Given the description of an element on the screen output the (x, y) to click on. 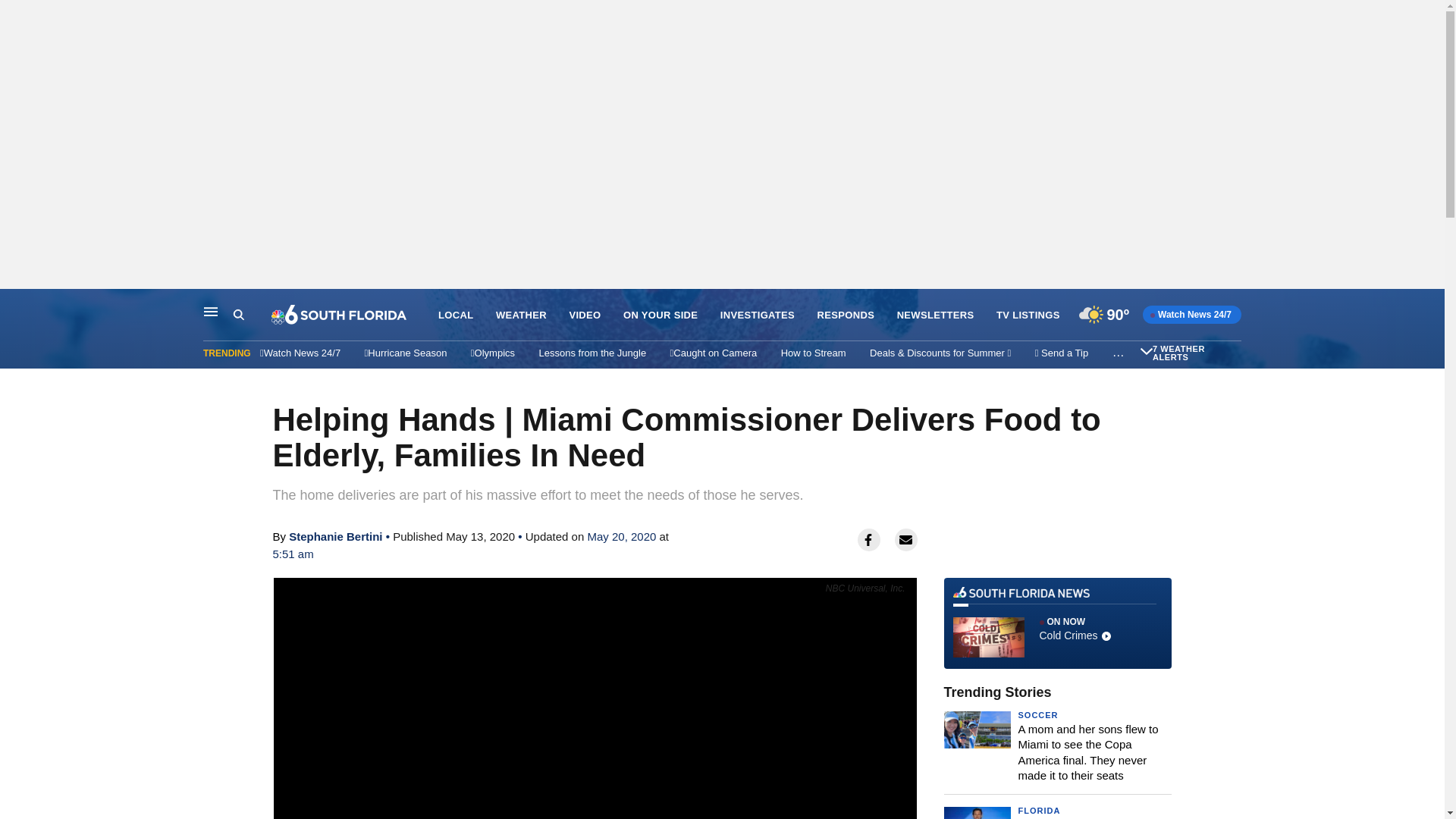
ON YOUR SIDE (660, 315)
LOCAL (455, 315)
INVESTIGATES (757, 315)
NEWSLETTERS (935, 315)
TV LISTINGS (1027, 315)
WEATHER (521, 315)
How to Stream (812, 352)
RESPONDS (845, 315)
7 WEATHER ALERTS (1195, 352)
Lessons from the Jungle (592, 352)
Expand (1146, 350)
Search (252, 314)
Search (238, 314)
Stephanie Bertini (334, 535)
Skip to content (16, 304)
